Given the description of an element on the screen output the (x, y) to click on. 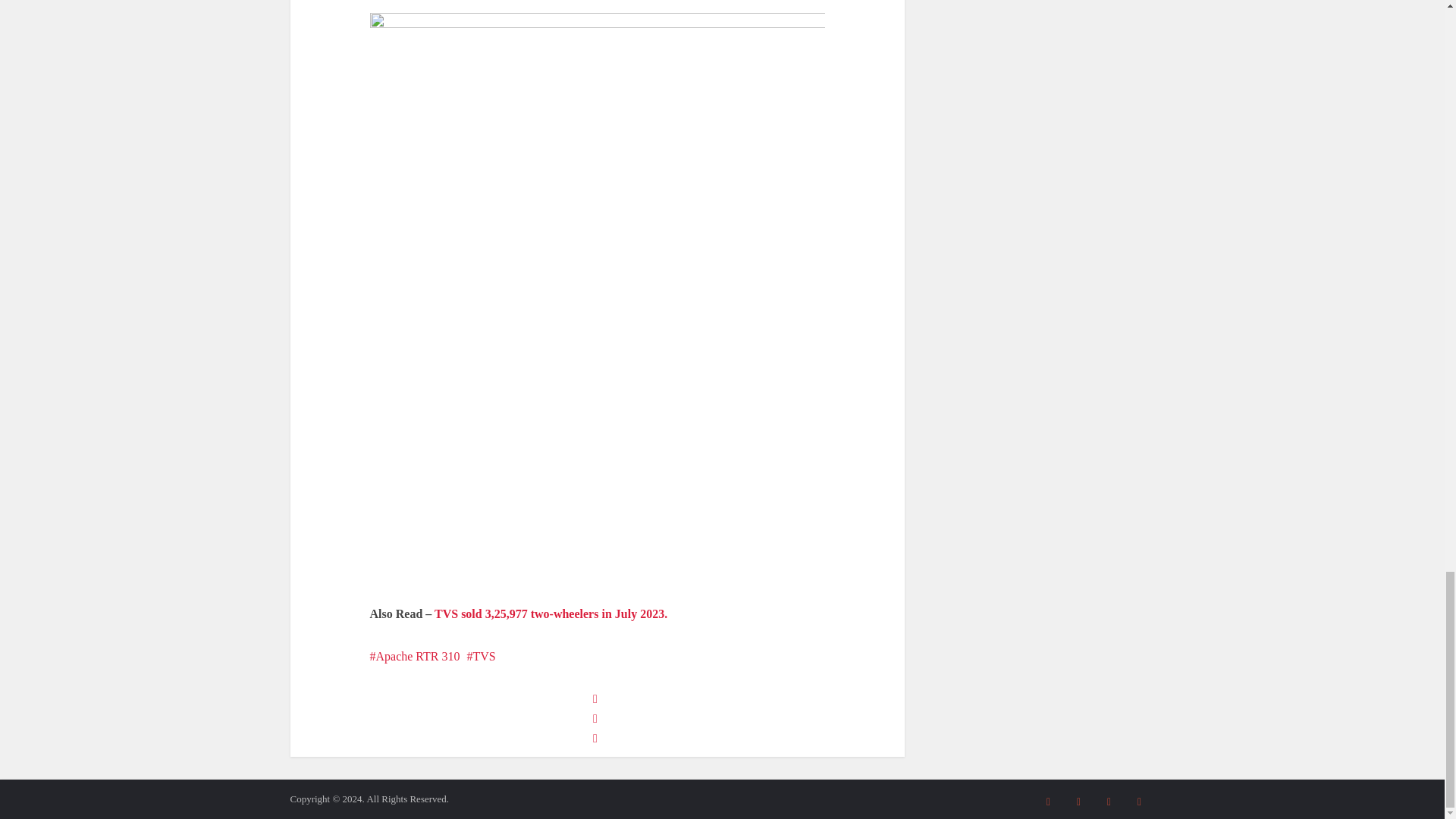
TVS sold 3,25,977 two-wheelers in July 2023 (549, 613)
Apache RTR 310 (414, 656)
TVS (481, 656)
TVS sold 3,25,977 two-wheelers in July 2023. (549, 613)
